Given the description of an element on the screen output the (x, y) to click on. 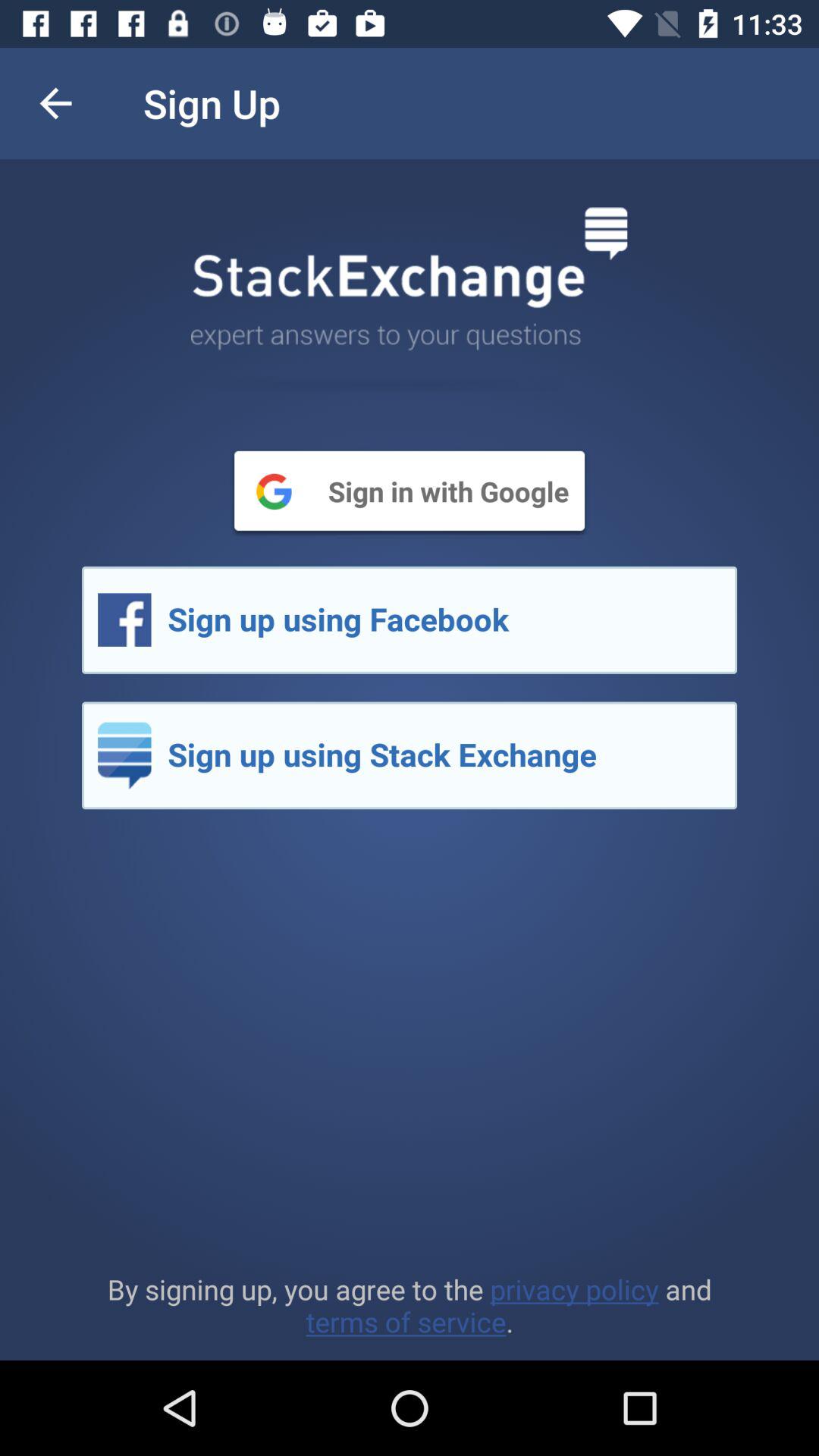
sign up with facebook (409, 619)
